Given the description of an element on the screen output the (x, y) to click on. 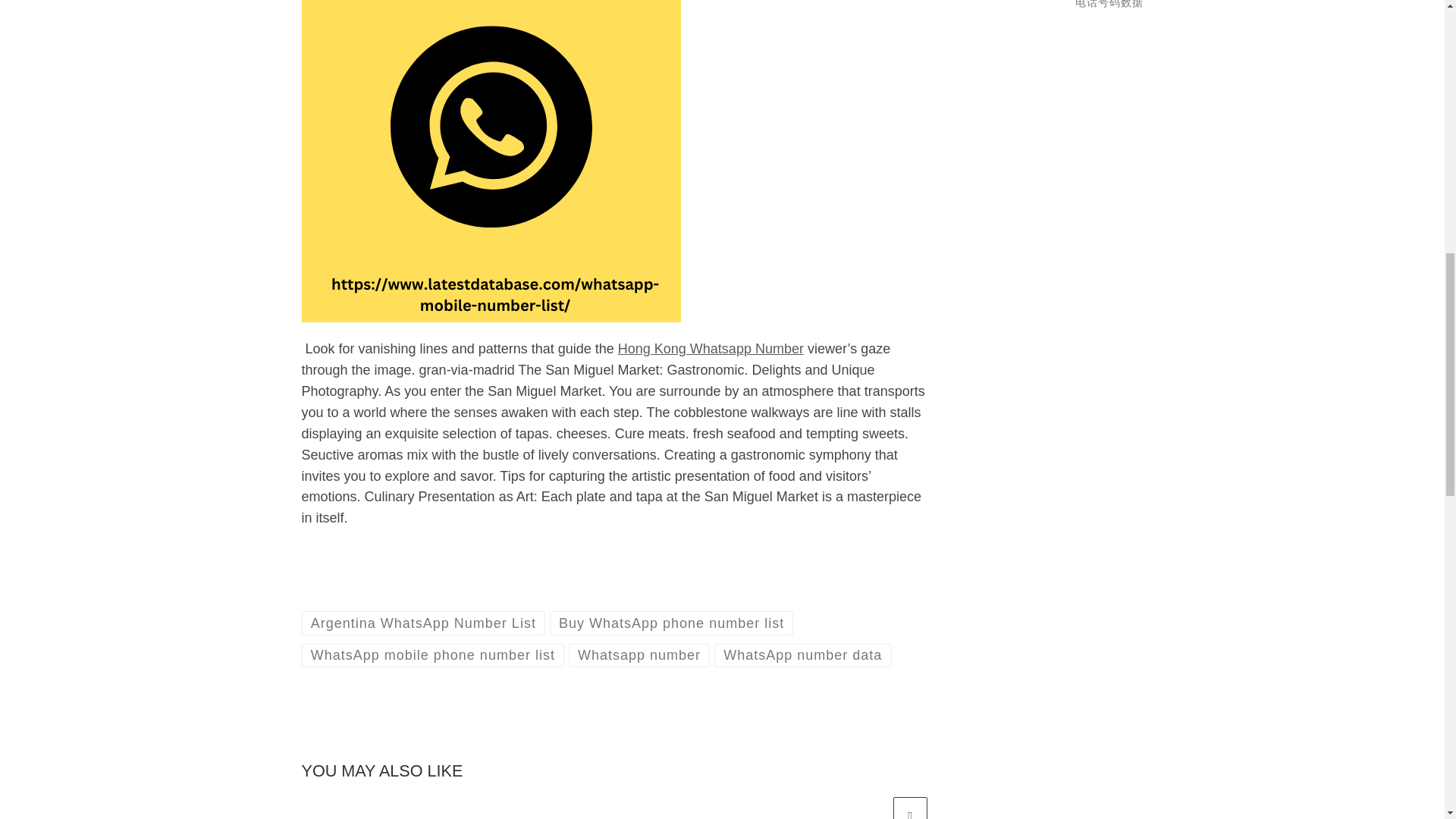
Argentina WhatsApp Number List (423, 622)
Whatsapp number (639, 655)
Buy WhatsApp phone number list (671, 622)
Previous related articles (872, 807)
View all posts in WhatsApp number data (802, 655)
Next related articles (910, 807)
View all posts in Argentina WhatsApp Number List (423, 622)
View all posts in WhatsApp mobile phone number list (432, 655)
WhatsApp mobile phone number list (432, 655)
View all posts in Buy WhatsApp phone number list (671, 622)
